Given the description of an element on the screen output the (x, y) to click on. 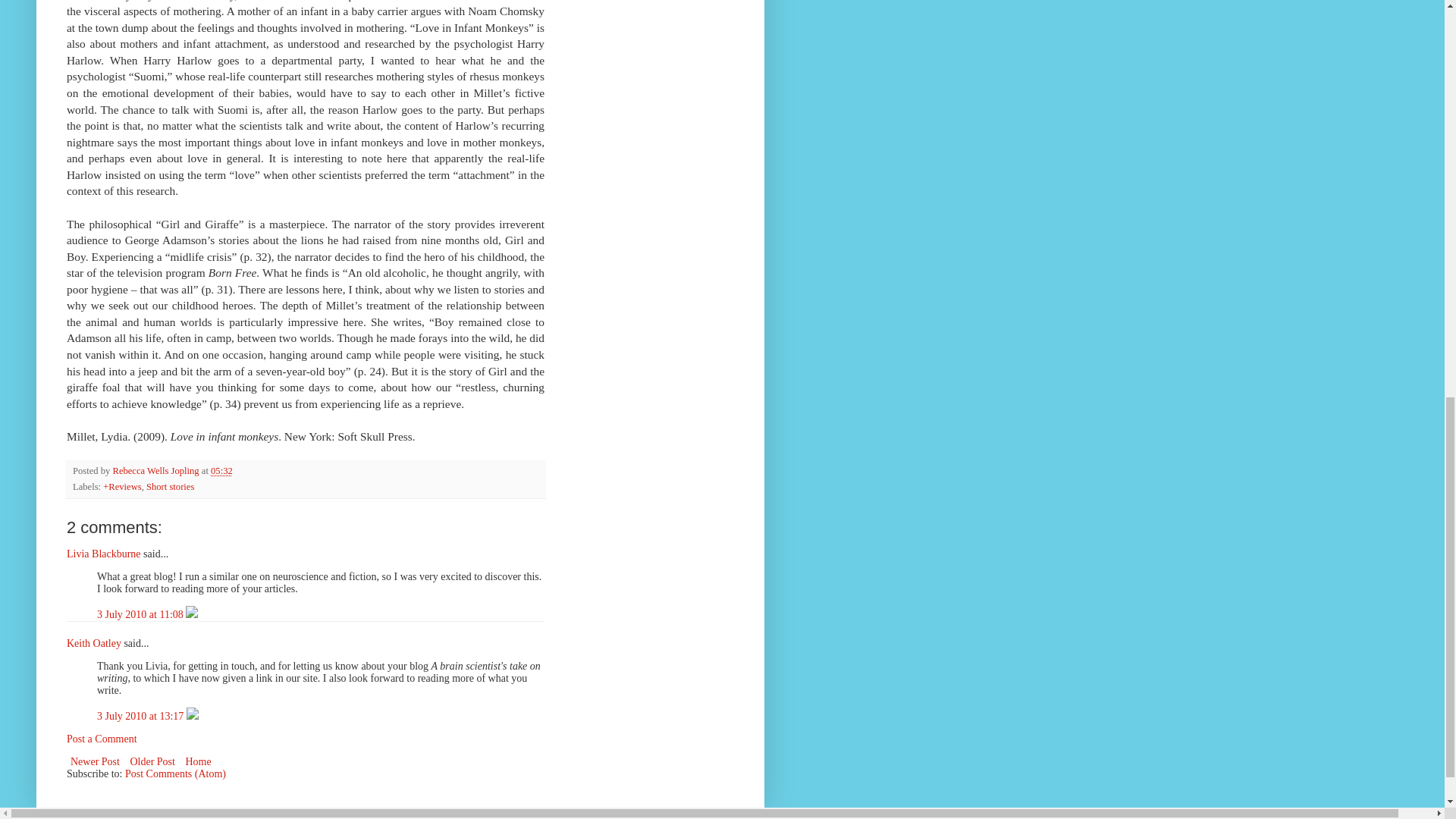
Livia Blackburne (103, 553)
Newer Post (94, 761)
Delete Comment (192, 715)
author profile (156, 470)
05:32 (221, 470)
3 July 2010 at 13:17 (141, 715)
Keith Oatley (93, 643)
Older Post (152, 761)
permanent link (221, 470)
Short stories (170, 486)
